Given the description of an element on the screen output the (x, y) to click on. 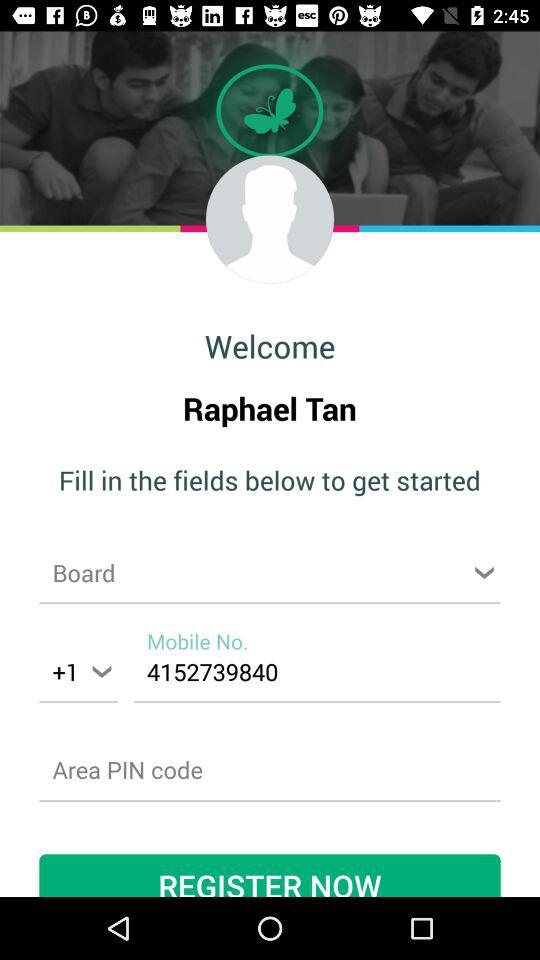
enter pin (269, 770)
